Given the description of an element on the screen output the (x, y) to click on. 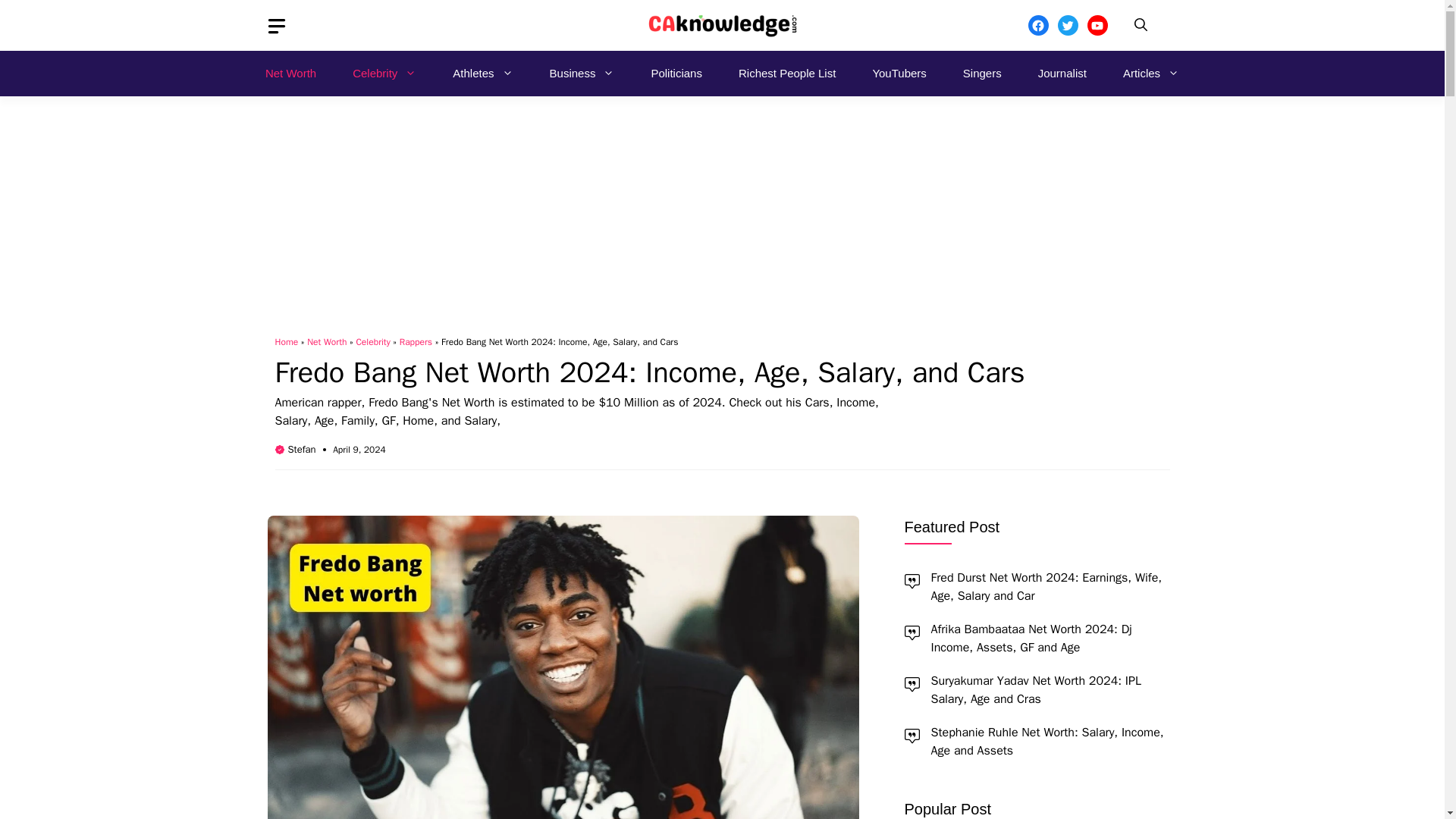
Celebrity (383, 73)
Twitter (1067, 25)
Business (582, 73)
Facebook (1037, 25)
Politicians (675, 73)
YouTube (1097, 25)
Athletes (482, 73)
Net Worth (290, 73)
